Given the description of an element on the screen output the (x, y) to click on. 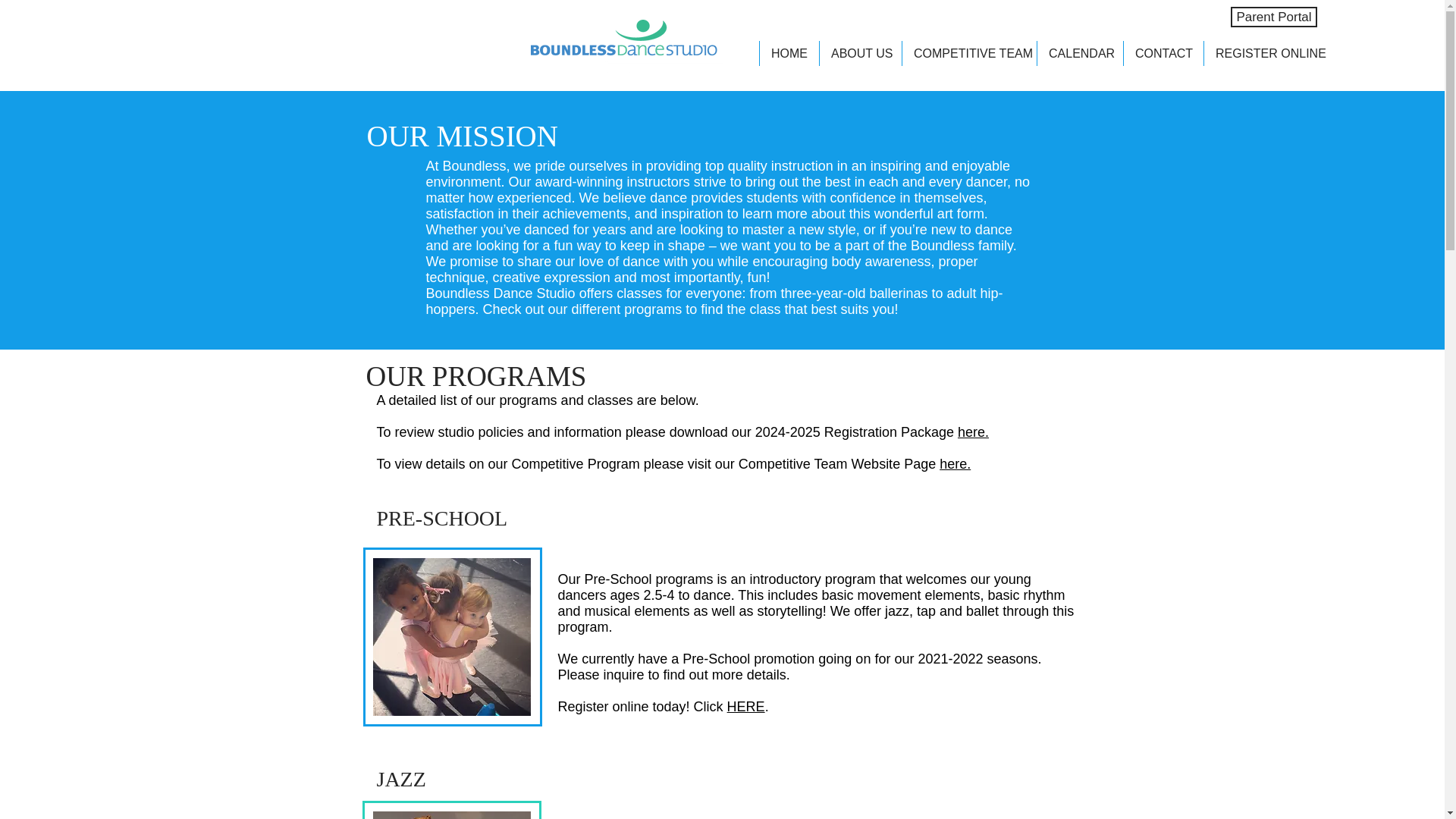
COMPETITIVE TEAM (968, 53)
here. (973, 432)
here. (955, 463)
CALENDAR (1079, 53)
HERE (745, 706)
CONTACT (1163, 53)
REGISTER ONLINE (1265, 53)
HOME (788, 53)
Parent Portal (1273, 16)
